Given the description of an element on the screen output the (x, y) to click on. 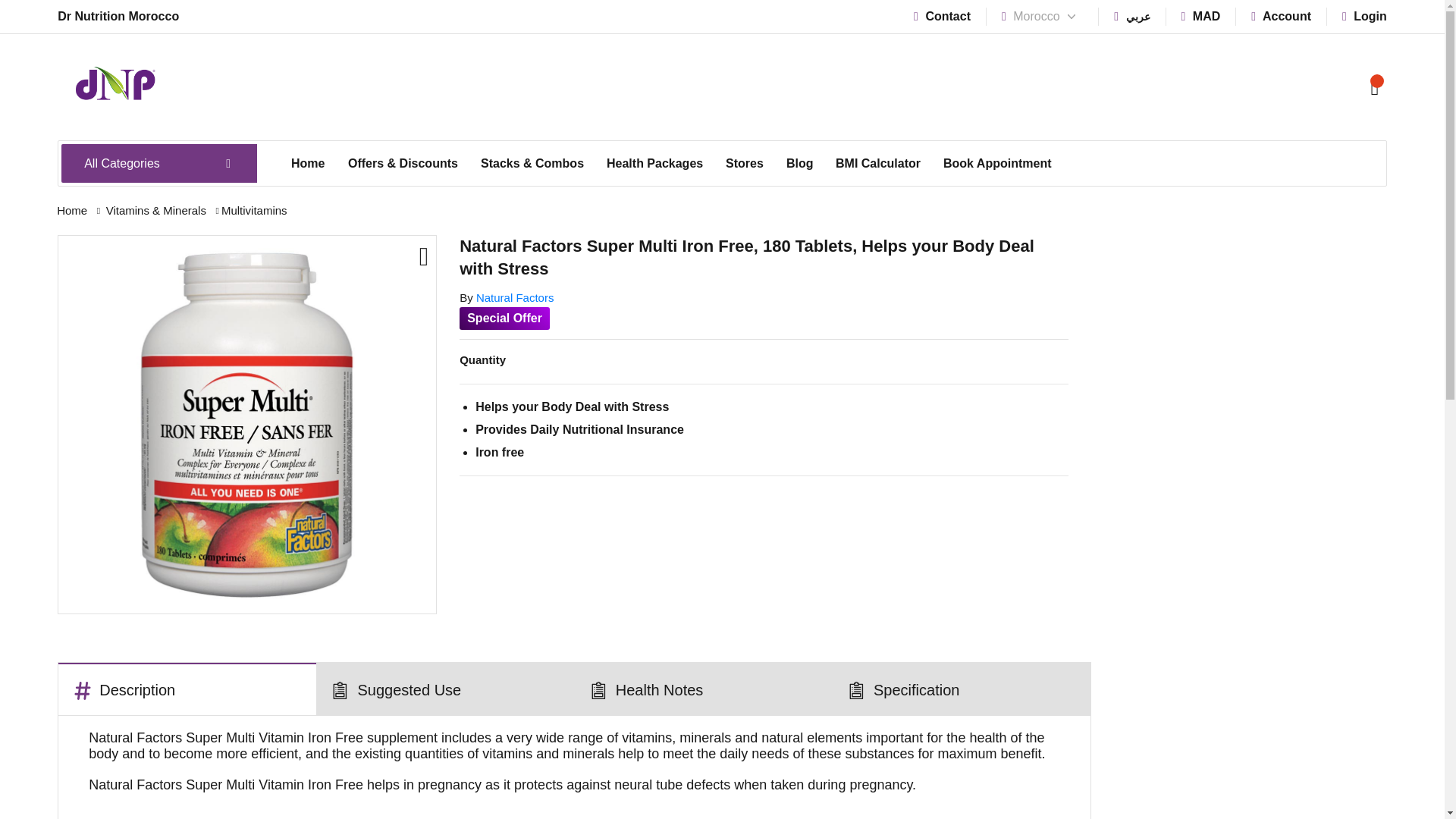
Contact (942, 16)
Blog (799, 163)
Login (1364, 16)
Contact (942, 16)
Home (307, 163)
Account (1280, 16)
Stores (744, 163)
MAD (1200, 16)
Account (1280, 16)
Login (1364, 16)
MAD (1200, 16)
Health Packages (654, 163)
